Given the description of an element on the screen output the (x, y) to click on. 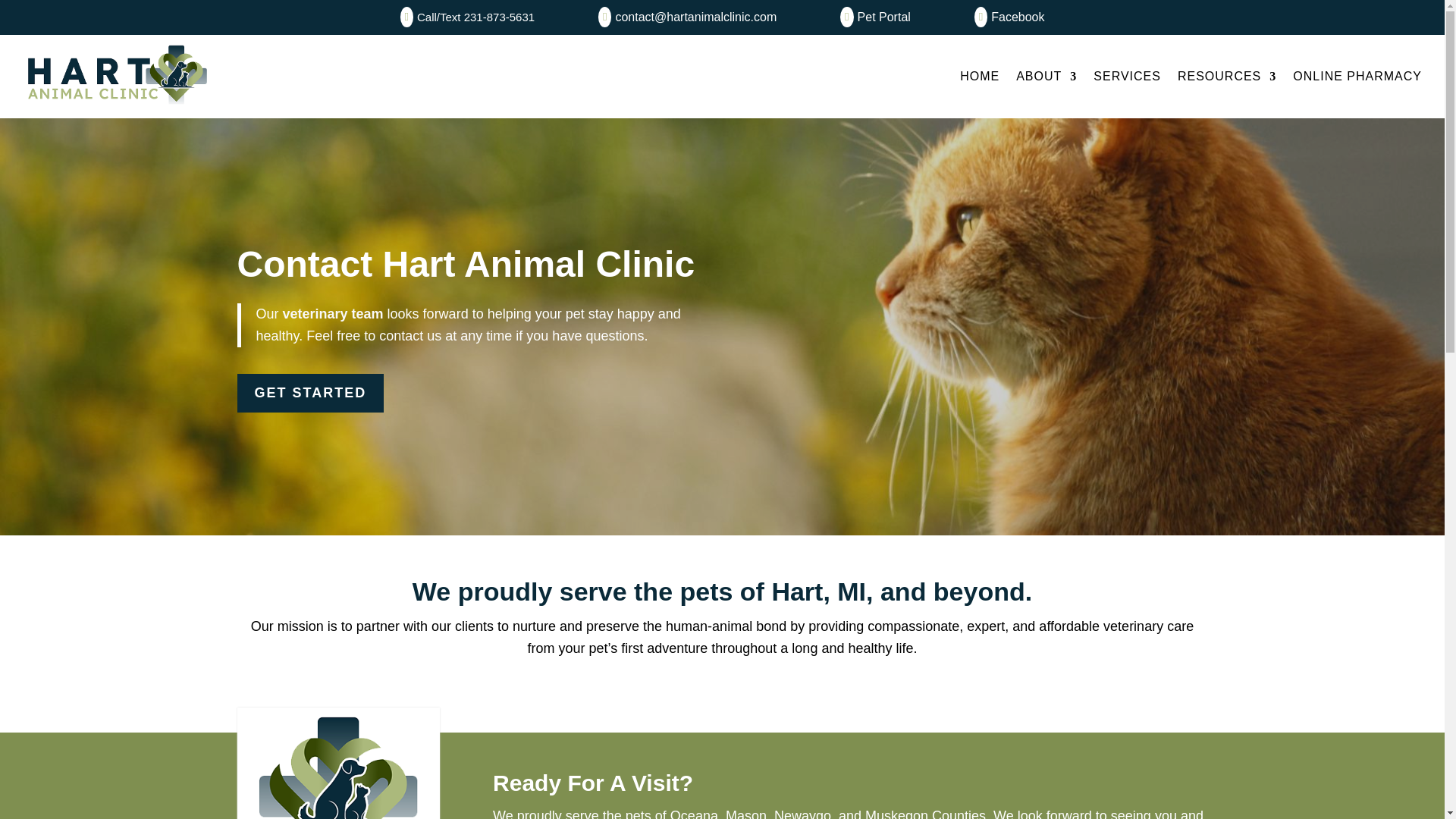
ONLINE PHARMACY (1357, 76)
ABOUT (1046, 76)
RESOURCES (1226, 76)
SERVICES (1126, 76)
